Given the description of an element on the screen output the (x, y) to click on. 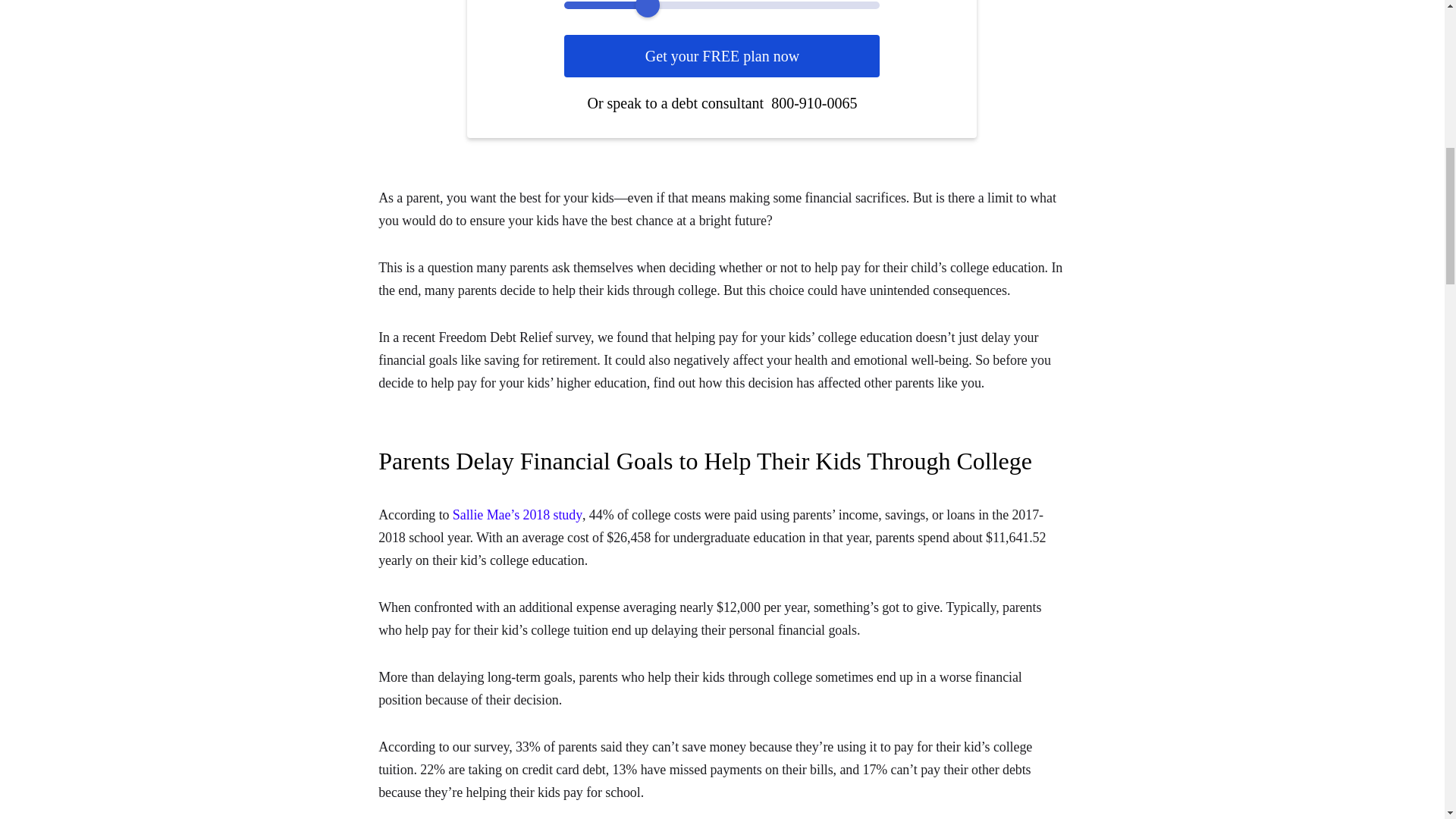
800-910-0065 (814, 103)
25000 (721, 5)
Get your FREE plan now (721, 55)
